Given the description of an element on the screen output the (x, y) to click on. 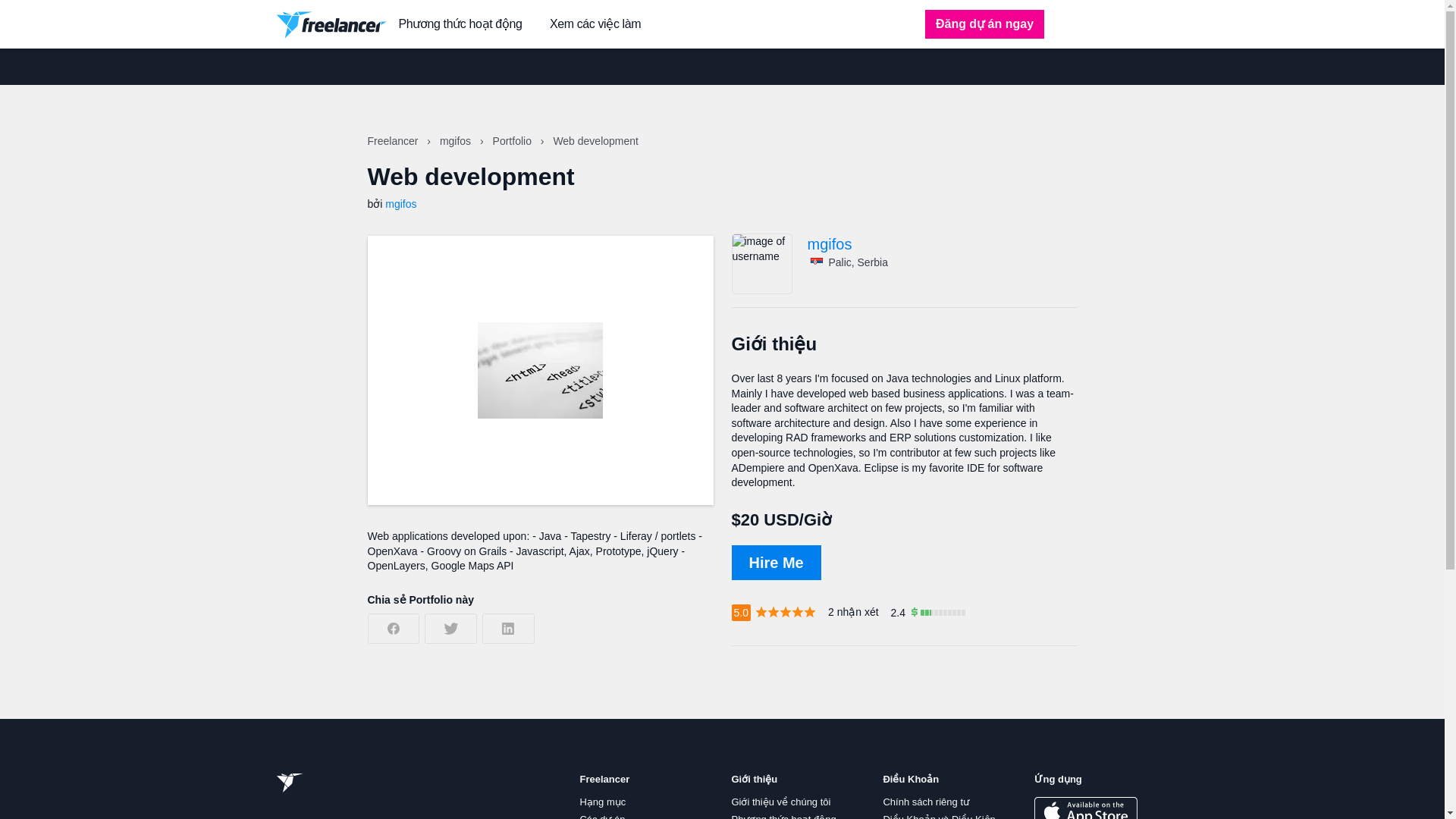
mgifos (400, 203)
Flag of Serbia (815, 261)
Portfolio (513, 141)
Freelancer (393, 141)
Hire Me (775, 562)
mgifos (941, 243)
mgifos (456, 141)
